Given the description of an element on the screen output the (x, y) to click on. 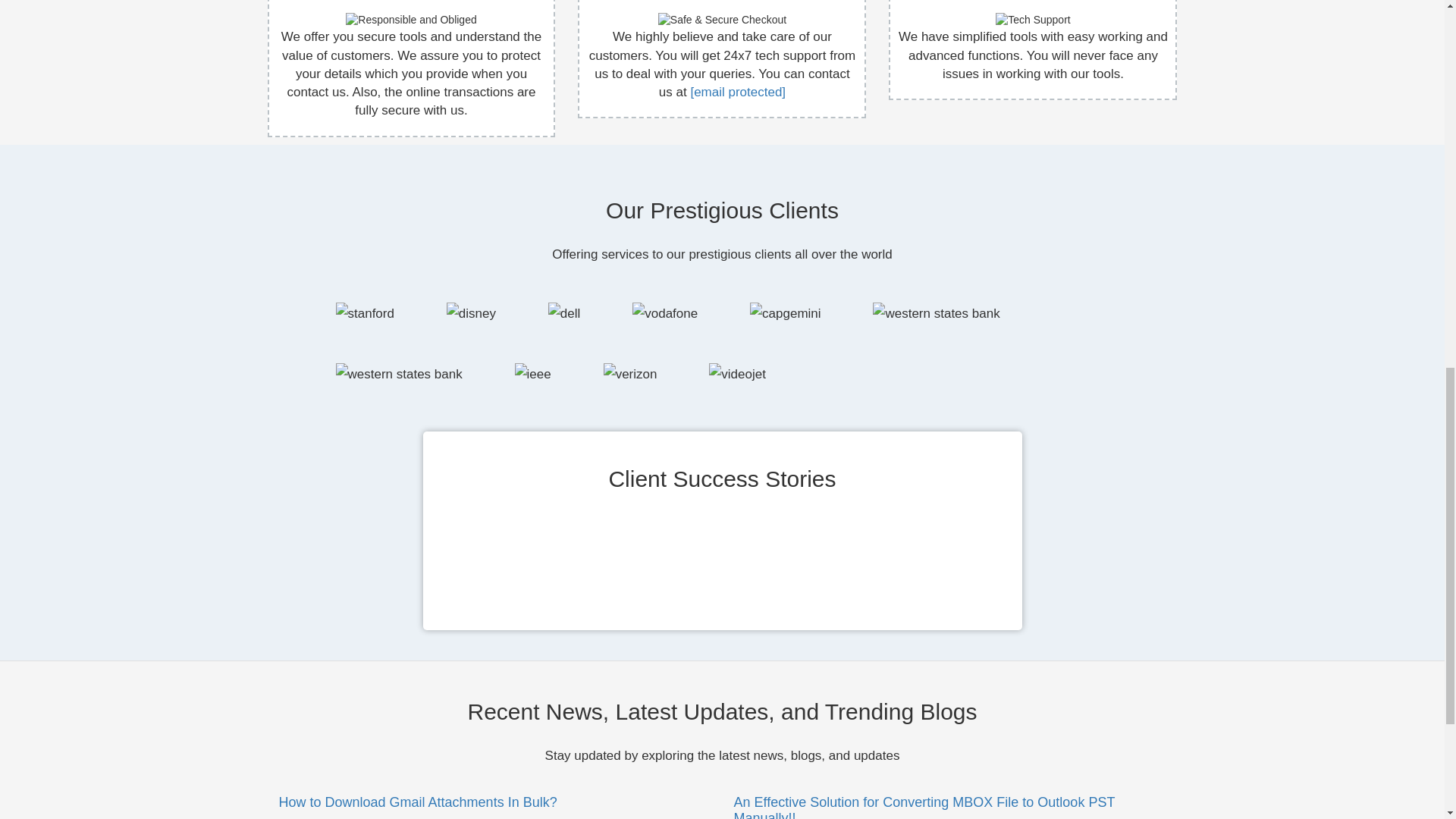
How to Download Gmail Attachments In Bulk? (418, 802)
How to Download Gmail Attachments In Bulk? (418, 802)
